Given the description of an element on the screen output the (x, y) to click on. 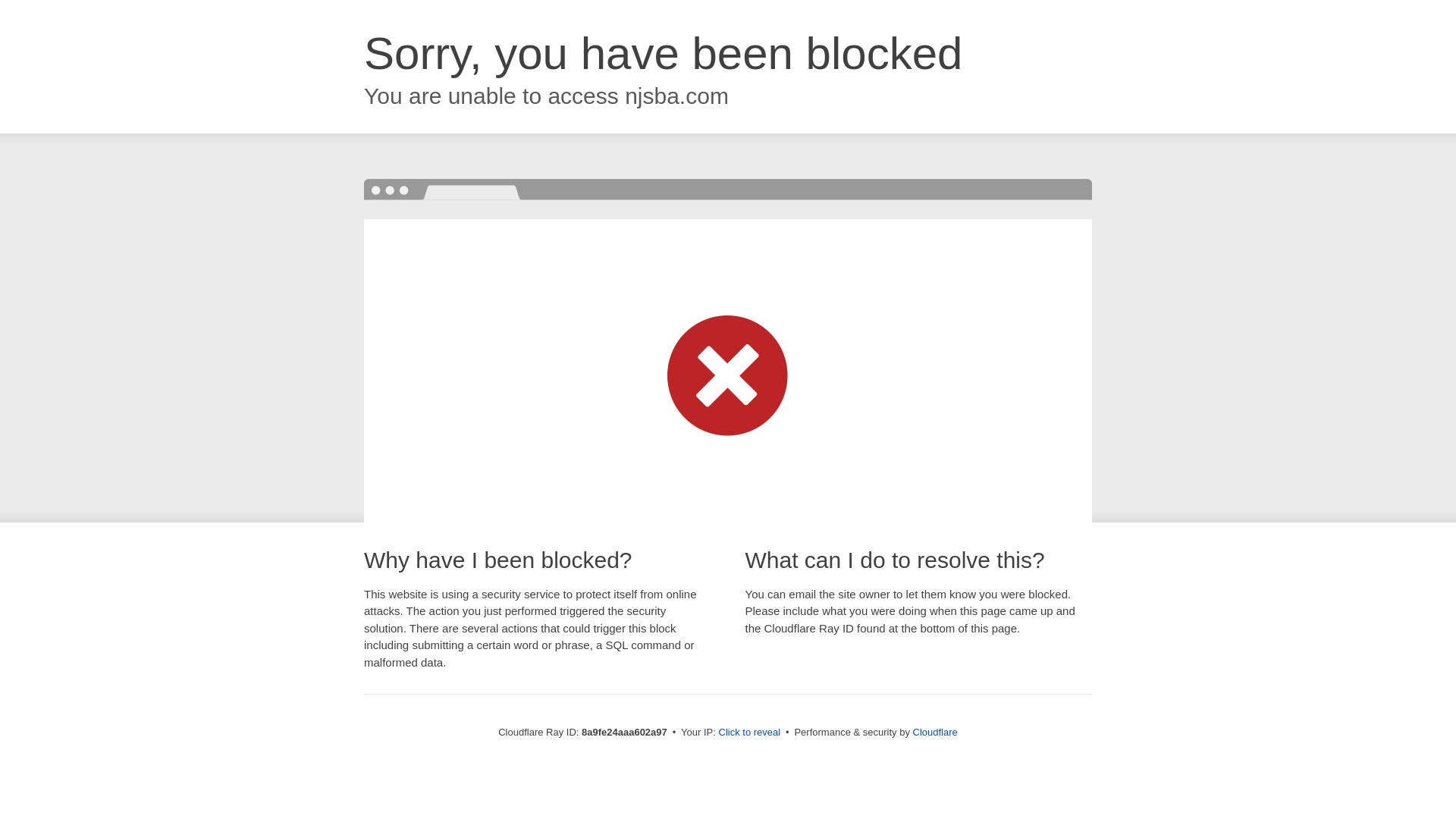
Click to reveal (749, 732)
Cloudflare (935, 731)
